Given the description of an element on the screen output the (x, y) to click on. 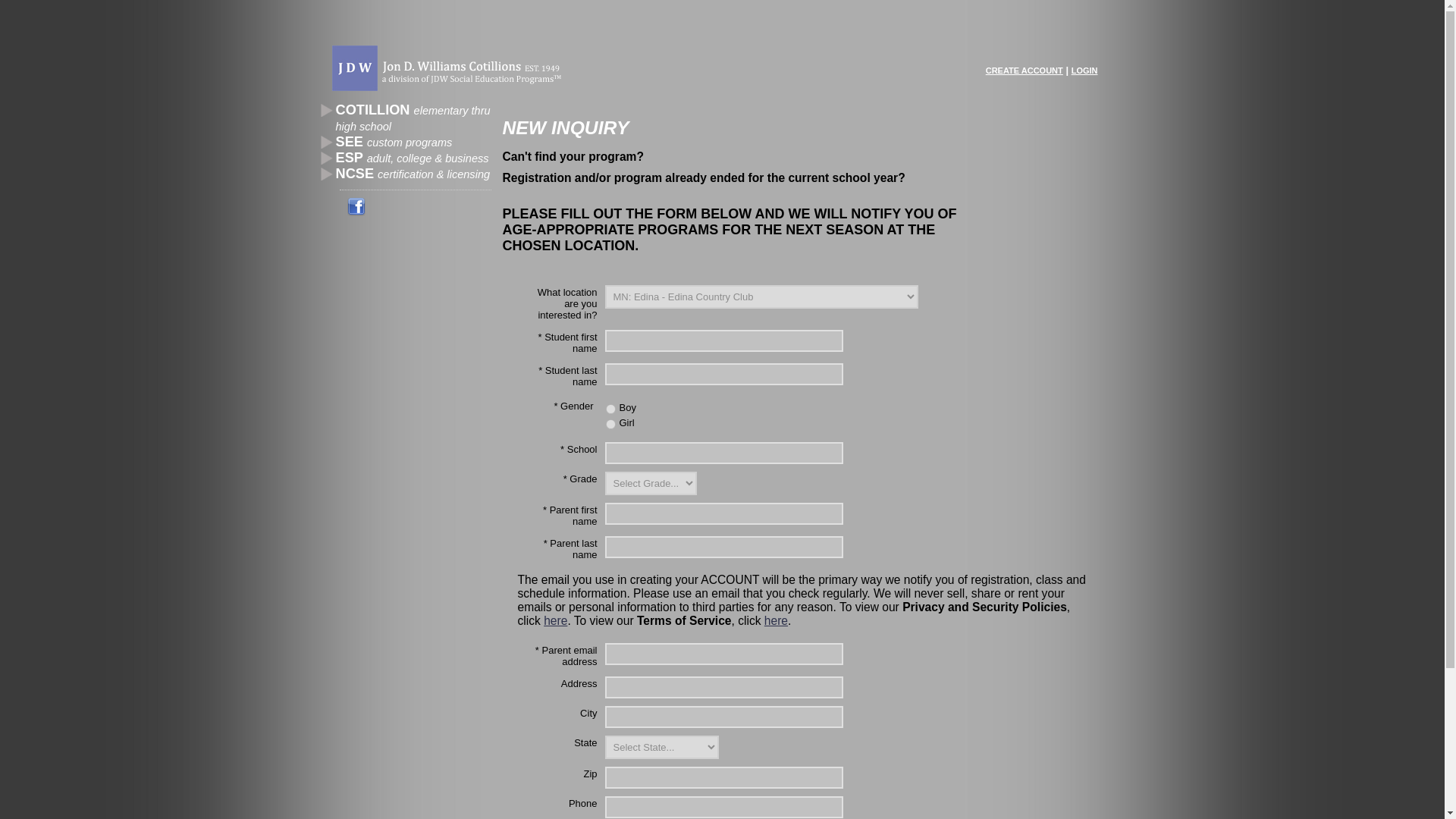
LOGIN (1084, 70)
boy (609, 409)
COTILLION elementary thru high school (411, 117)
SEE custom programs (392, 141)
CREATE ACCOUNT (1023, 70)
here (555, 620)
here (775, 620)
girl (609, 424)
